Given the description of an element on the screen output the (x, y) to click on. 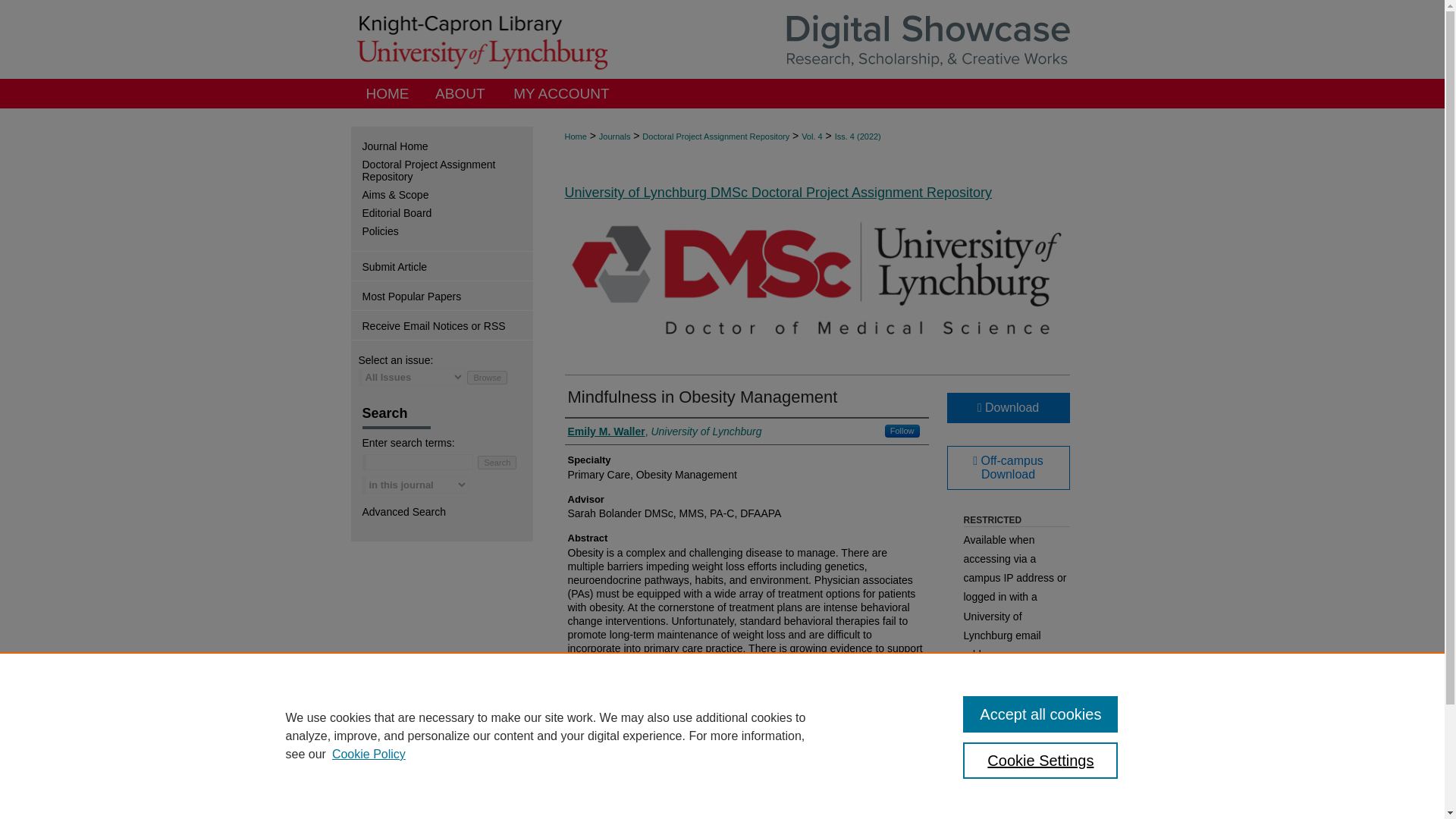
Policies (447, 231)
Download (1007, 408)
Browse (486, 377)
Email (1037, 796)
ABOUT (459, 93)
MY ACCOUNT (561, 93)
Vol. 4 (812, 135)
Most Popular Papers (441, 296)
Home (387, 93)
View the top downloaded papers (441, 296)
Doctoral Project Assignment Repository (715, 135)
Mindfulness in Obesity Management (702, 396)
Facebook (973, 796)
